Given the description of an element on the screen output the (x, y) to click on. 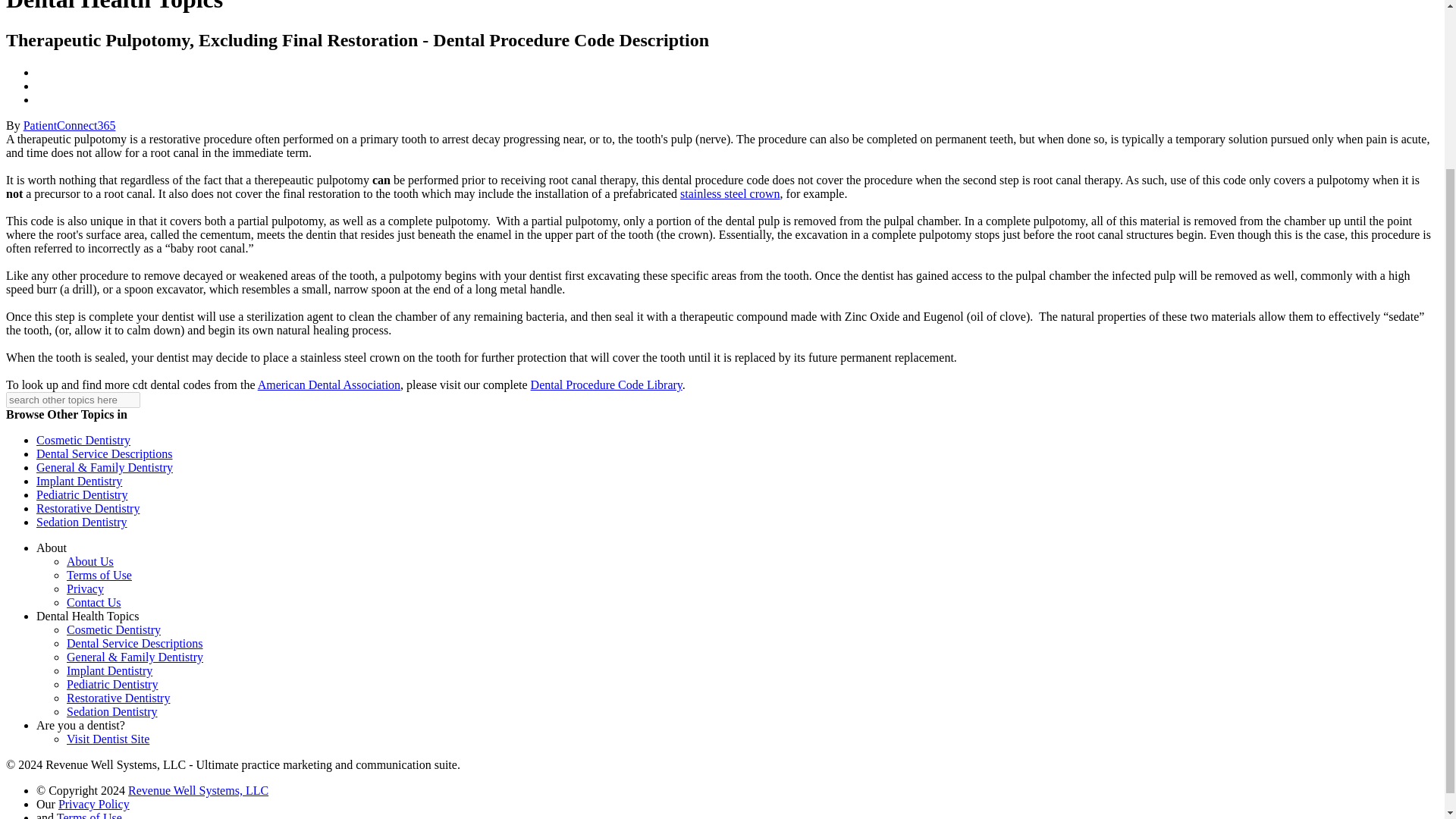
Privacy (84, 588)
Implant Dentistry (109, 670)
Implant Dentistry (79, 481)
Sedation Dentistry (111, 711)
About Us (89, 561)
Restorative Dentistry (118, 697)
Are you a dentist? (80, 725)
Cosmetic Dentistry (113, 629)
Cosmetic Dentistry (83, 440)
Contact Us (93, 602)
Restorative Dentistry (87, 508)
About (51, 547)
Pediatric Dentistry (82, 494)
Pediatric Dentistry (111, 684)
stainless steel crown (729, 193)
